Given the description of an element on the screen output the (x, y) to click on. 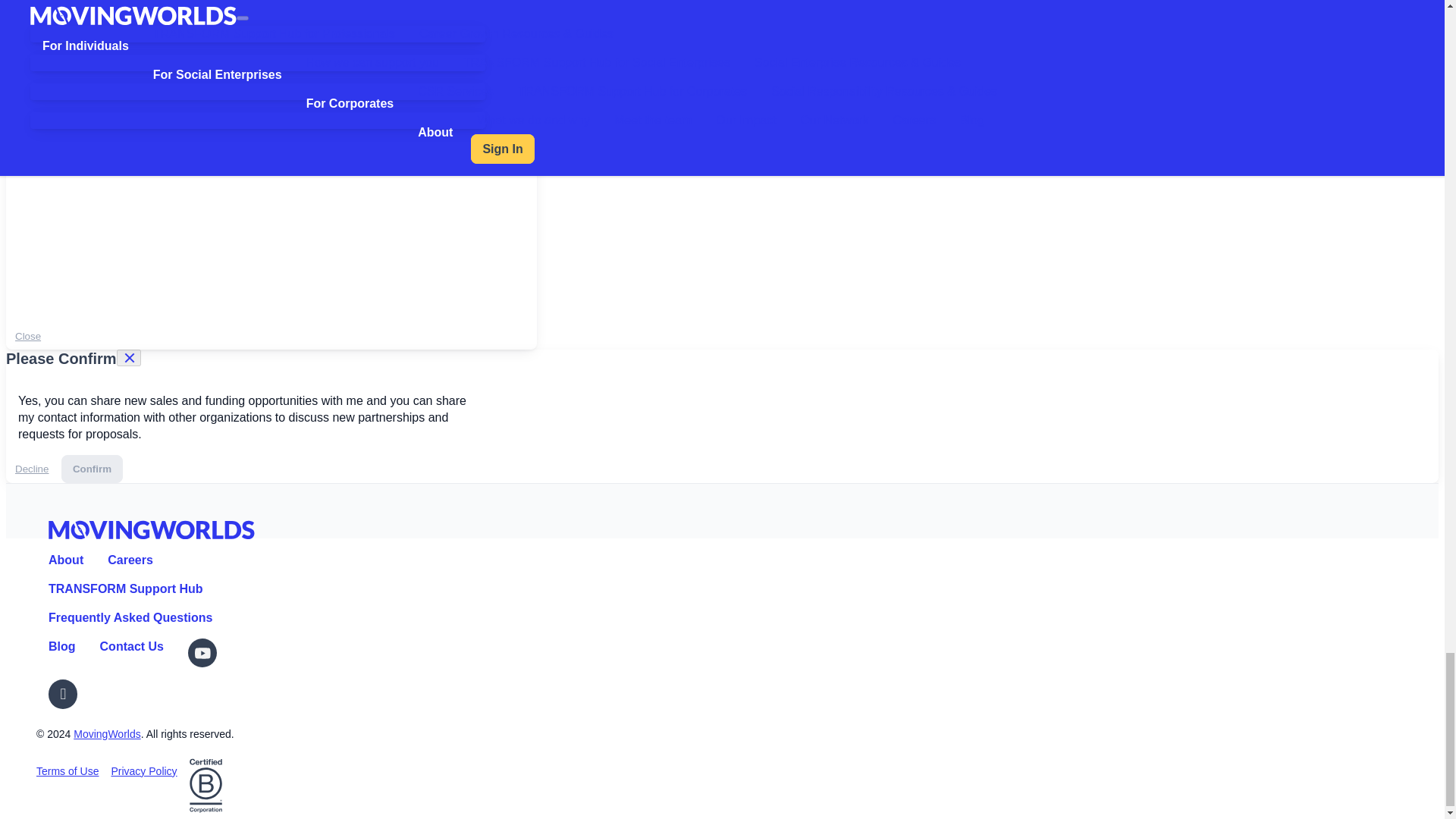
MovingWorlds Logo (151, 529)
youtube (203, 652)
